Given the description of an element on the screen output the (x, y) to click on. 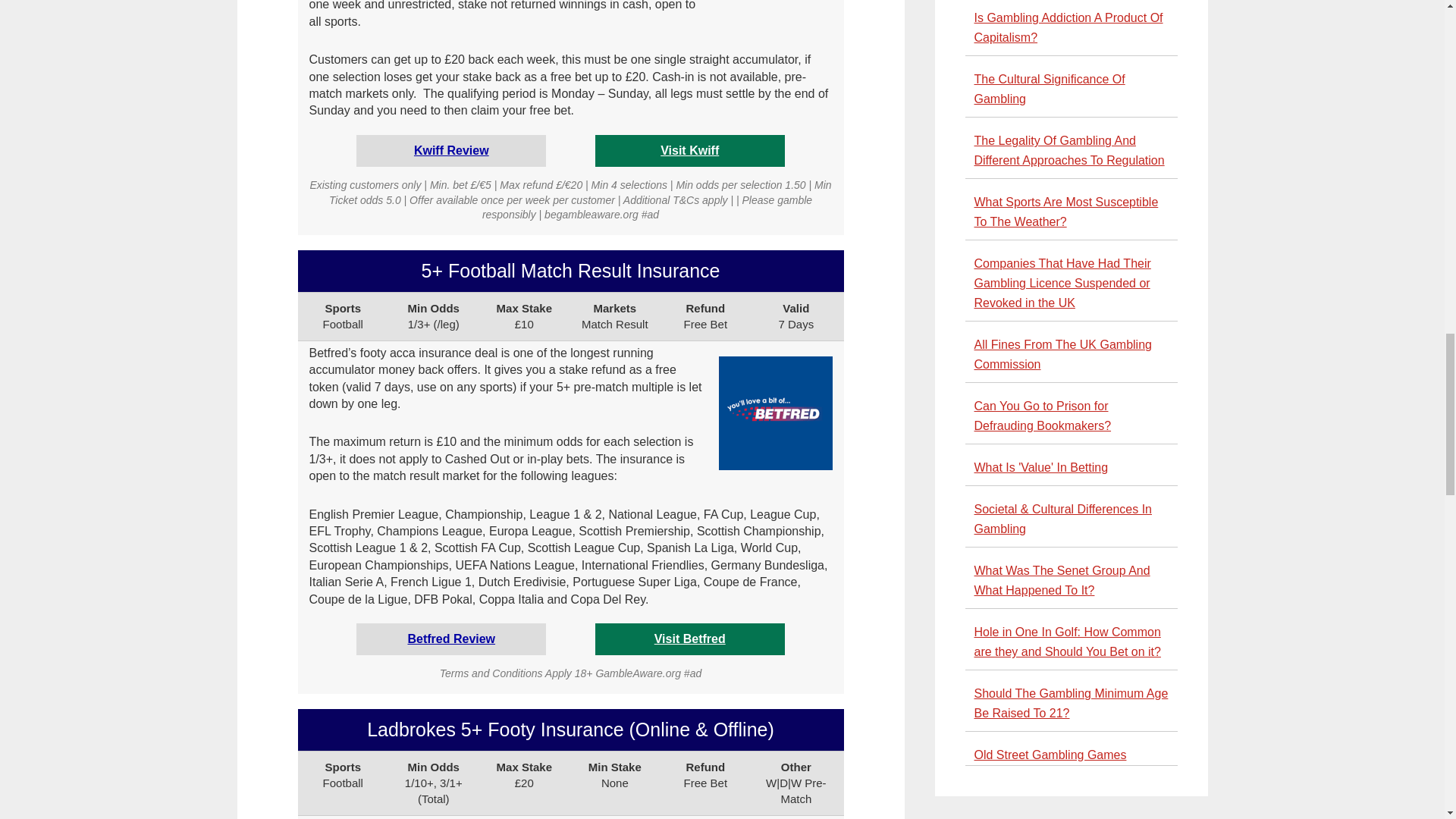
Kwiff Review (451, 150)
Betfred Review (451, 638)
Betfred Review (451, 638)
Kwiff Review (451, 150)
Visit Betfred (689, 638)
Visit Kwiff (690, 150)
